Given the description of an element on the screen output the (x, y) to click on. 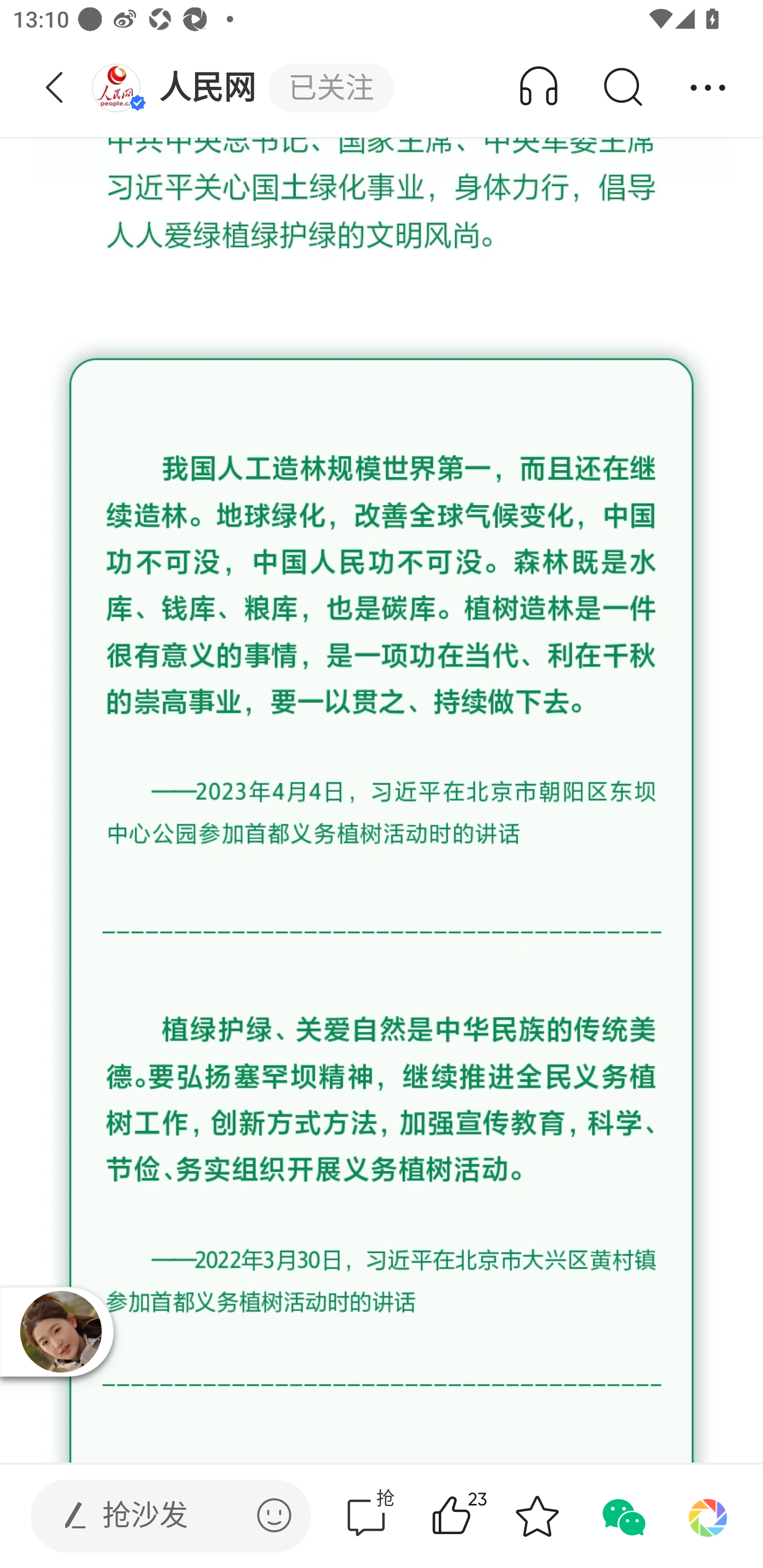
人民网 (179, 87)
搜索  (622, 87)
分享  (707, 87)
 返回 (54, 87)
已关注 (330, 88)
播放器 (61, 1331)
发表评论  抢沙发 发表评论  (155, 1516)
抢评论  抢 评论 (365, 1516)
23赞 (476, 1516)
收藏  (536, 1516)
分享到微信  (622, 1516)
分享到朋友圈 (707, 1516)
 (274, 1515)
